Given the description of an element on the screen output the (x, y) to click on. 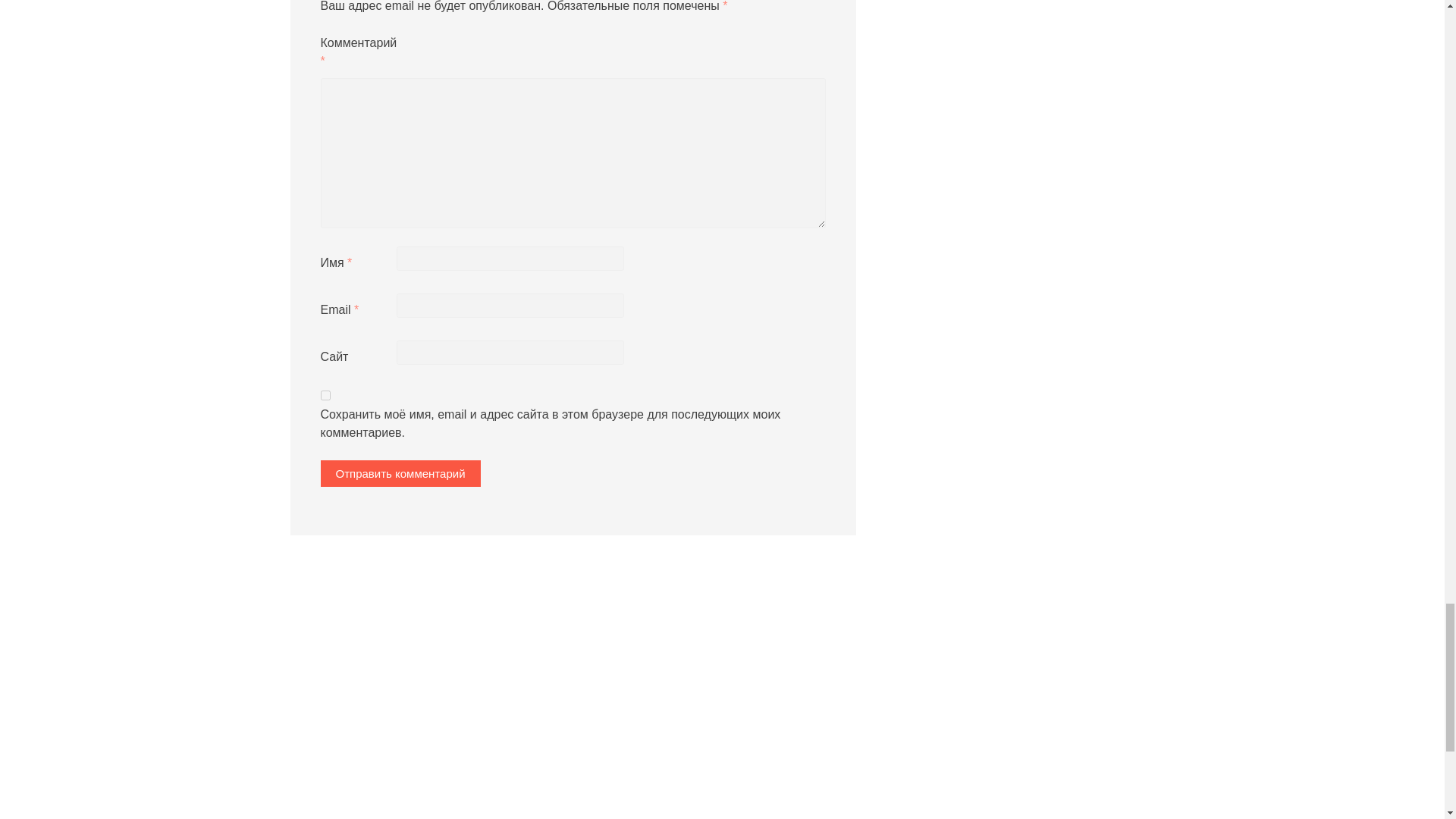
yes (325, 395)
